Given the description of an element on the screen output the (x, y) to click on. 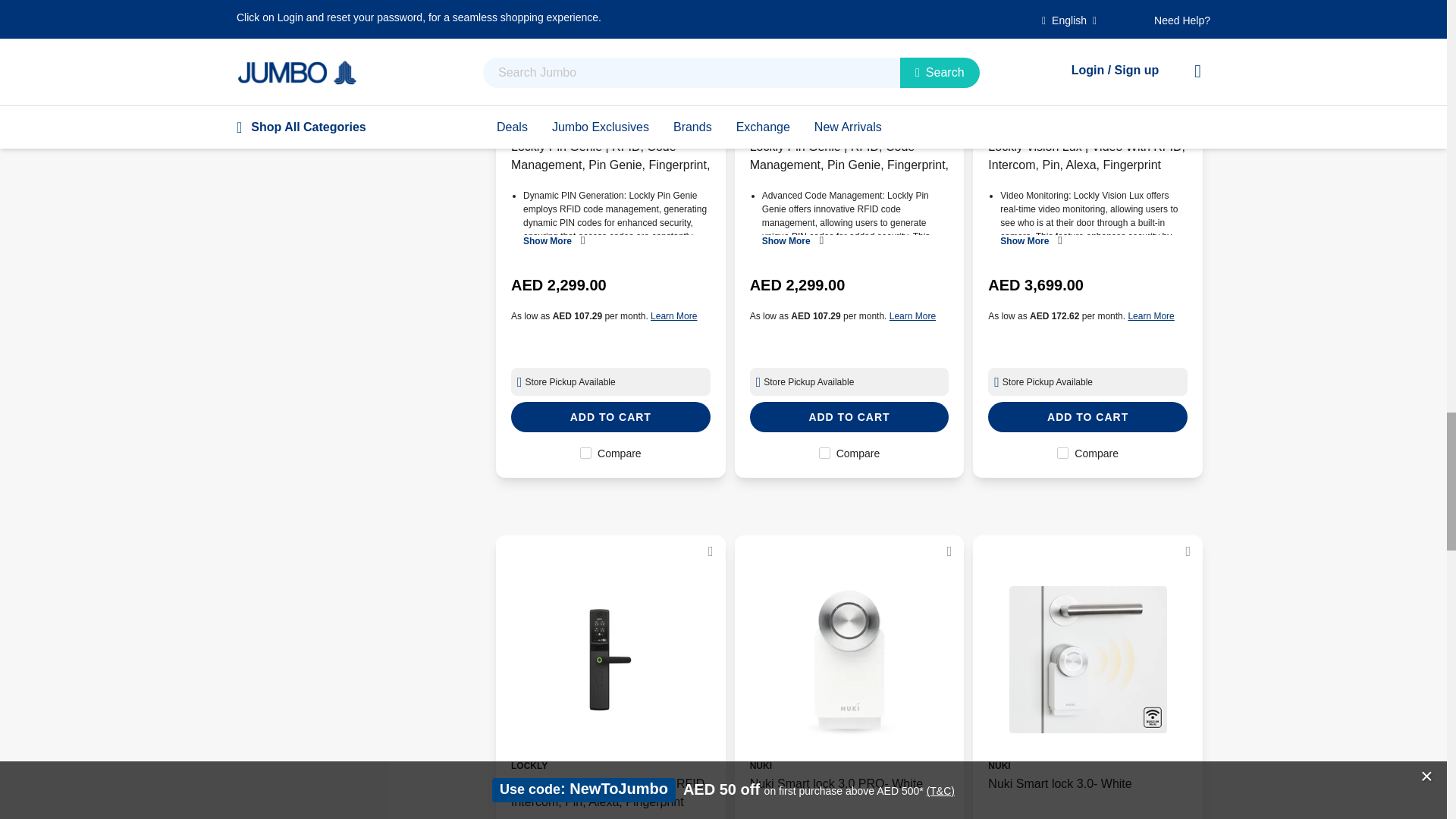
on (1062, 452)
on (823, 452)
on (585, 452)
